Given the description of an element on the screen output the (x, y) to click on. 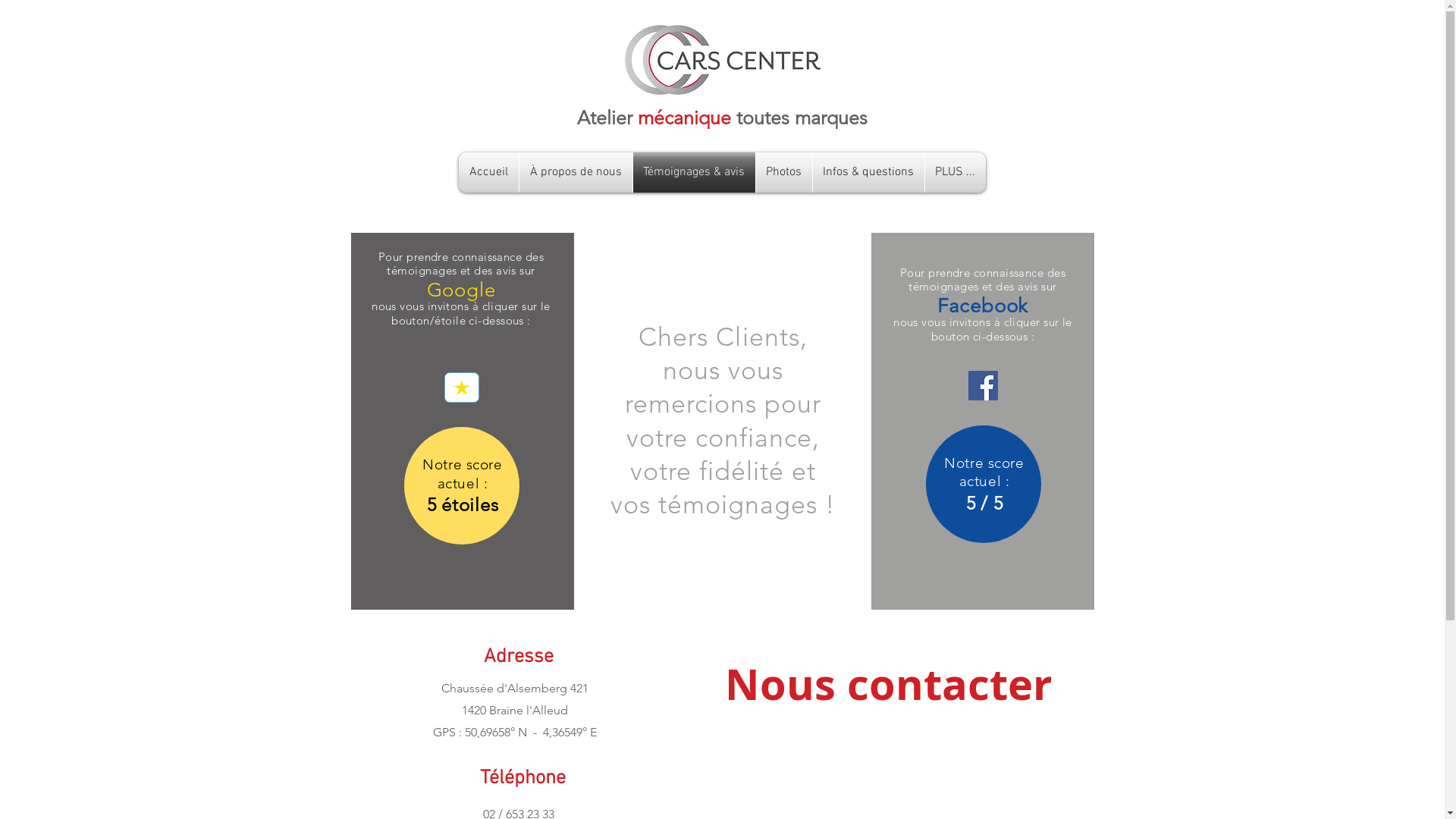
Photos Element type: text (783, 172)
Infos & questions Element type: text (868, 172)
Accueil Element type: text (487, 172)
